Given the description of an element on the screen output the (x, y) to click on. 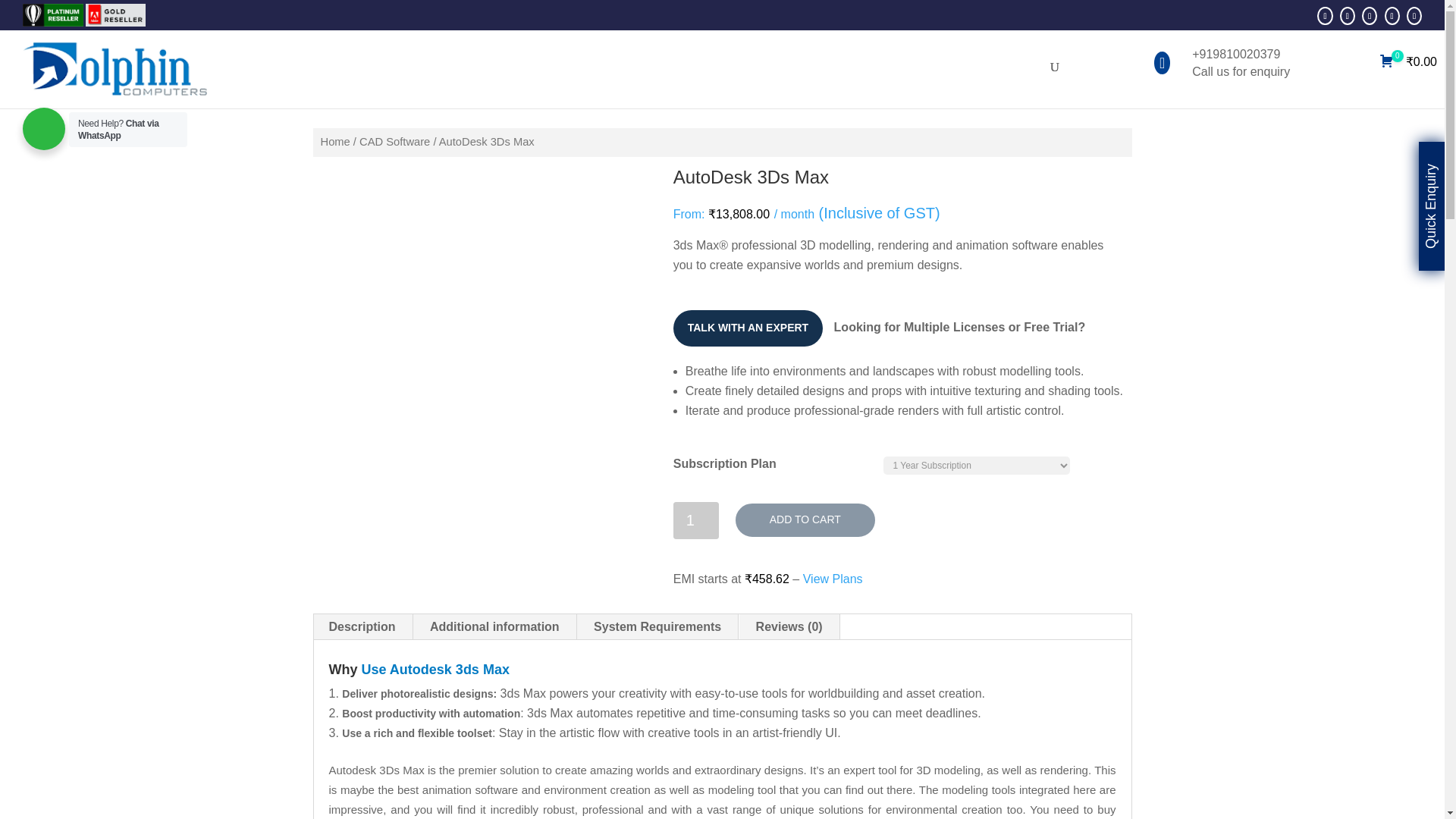
Qty (695, 520)
1 (695, 520)
